Given the description of an element on the screen output the (x, y) to click on. 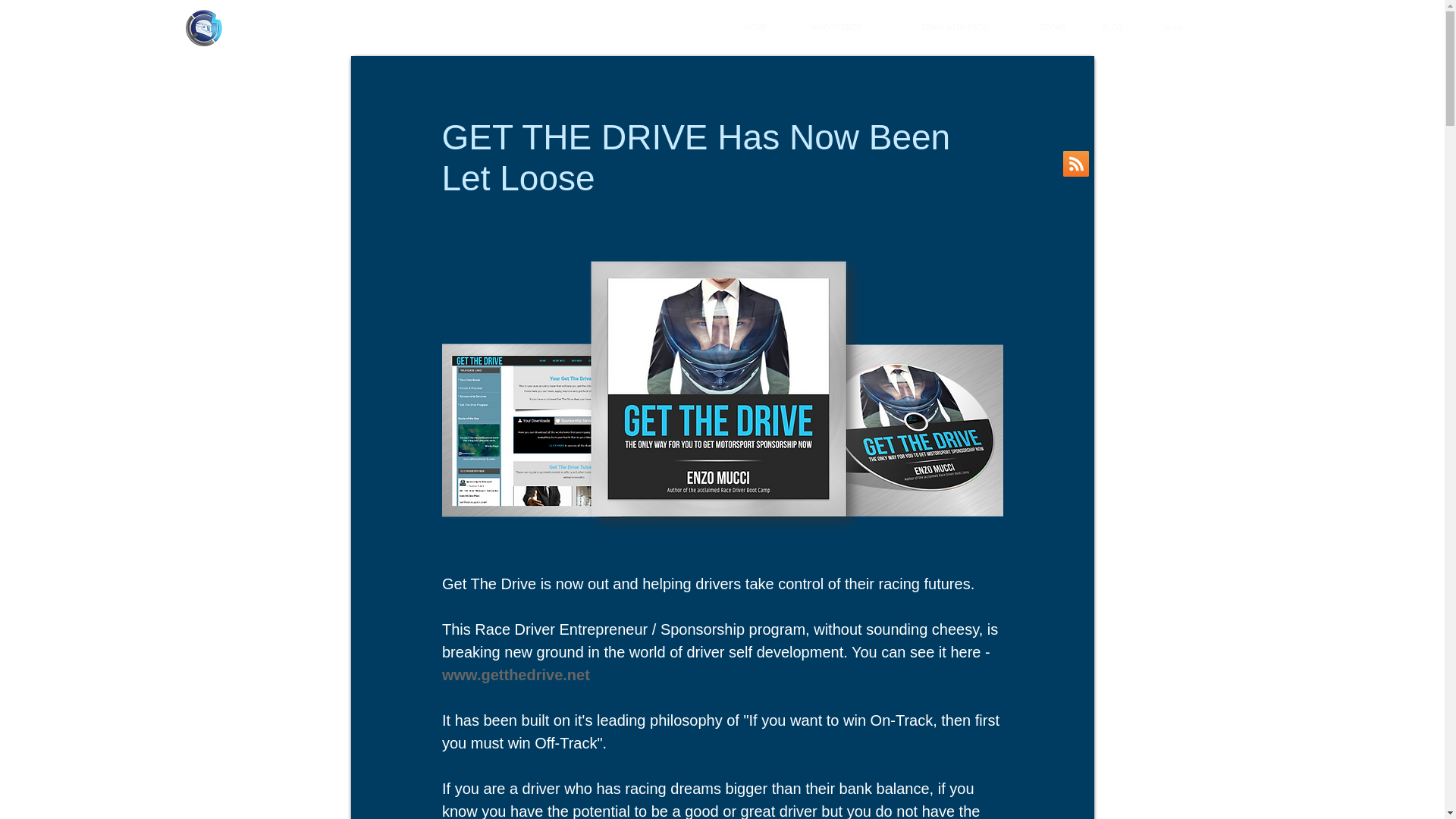
The Race (249, 21)
BLOG (1112, 27)
WHO IS ENZO (836, 27)
RSS Feed (1075, 163)
HOME (755, 27)
www.getthedrive.net (515, 674)
TRAIN WITH ENZO (954, 27)
